Given the description of an element on the screen output the (x, y) to click on. 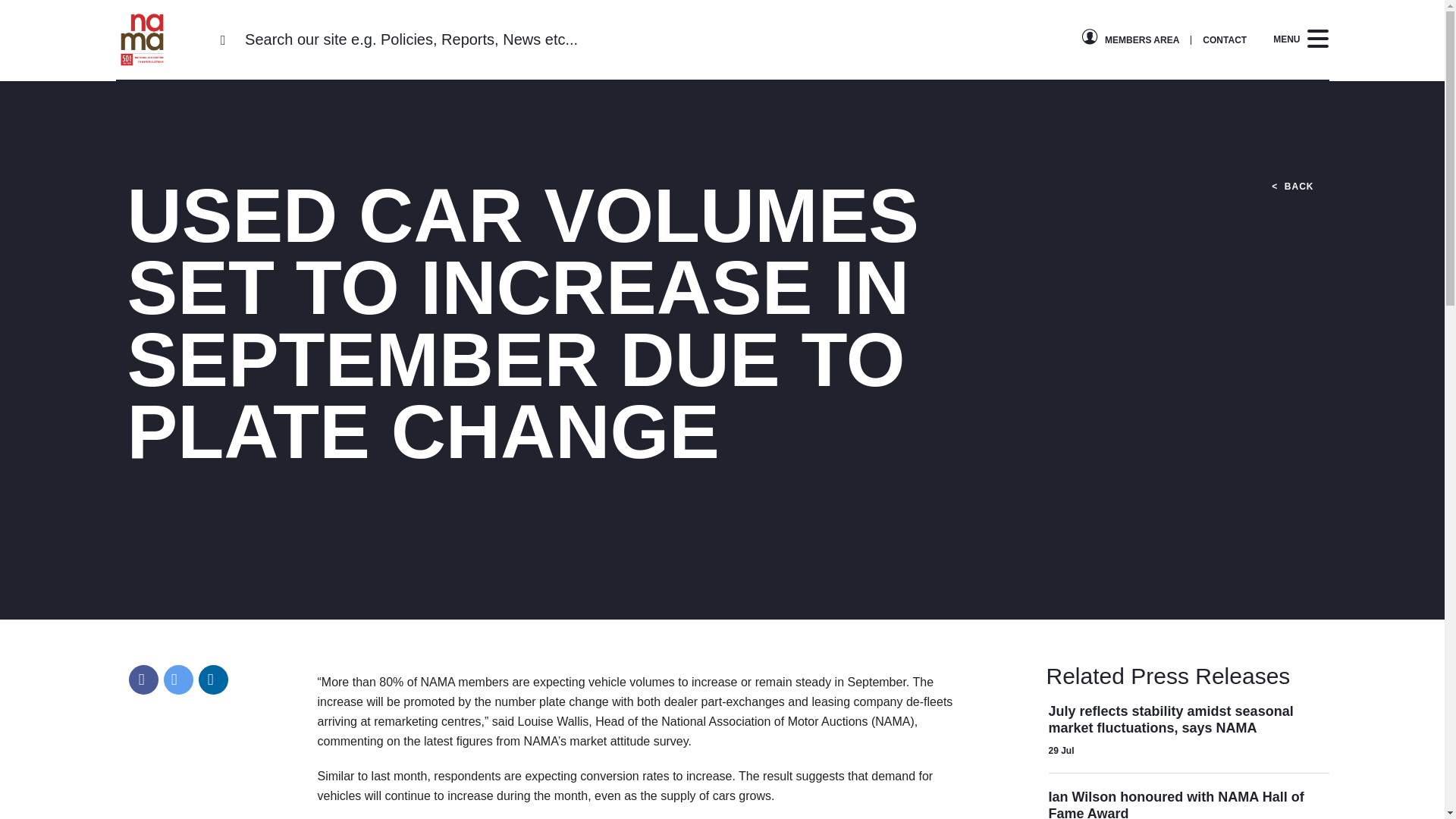
PRESS RELEASES (253, 91)
Ian Wilson honoured with NAMA Hall of Fame Award (1175, 804)
CONTACT (1224, 39)
BACK (1292, 186)
PRESS ROOM (174, 91)
MEMBERS AREA (1142, 39)
HOME (127, 91)
